Given the description of an element on the screen output the (x, y) to click on. 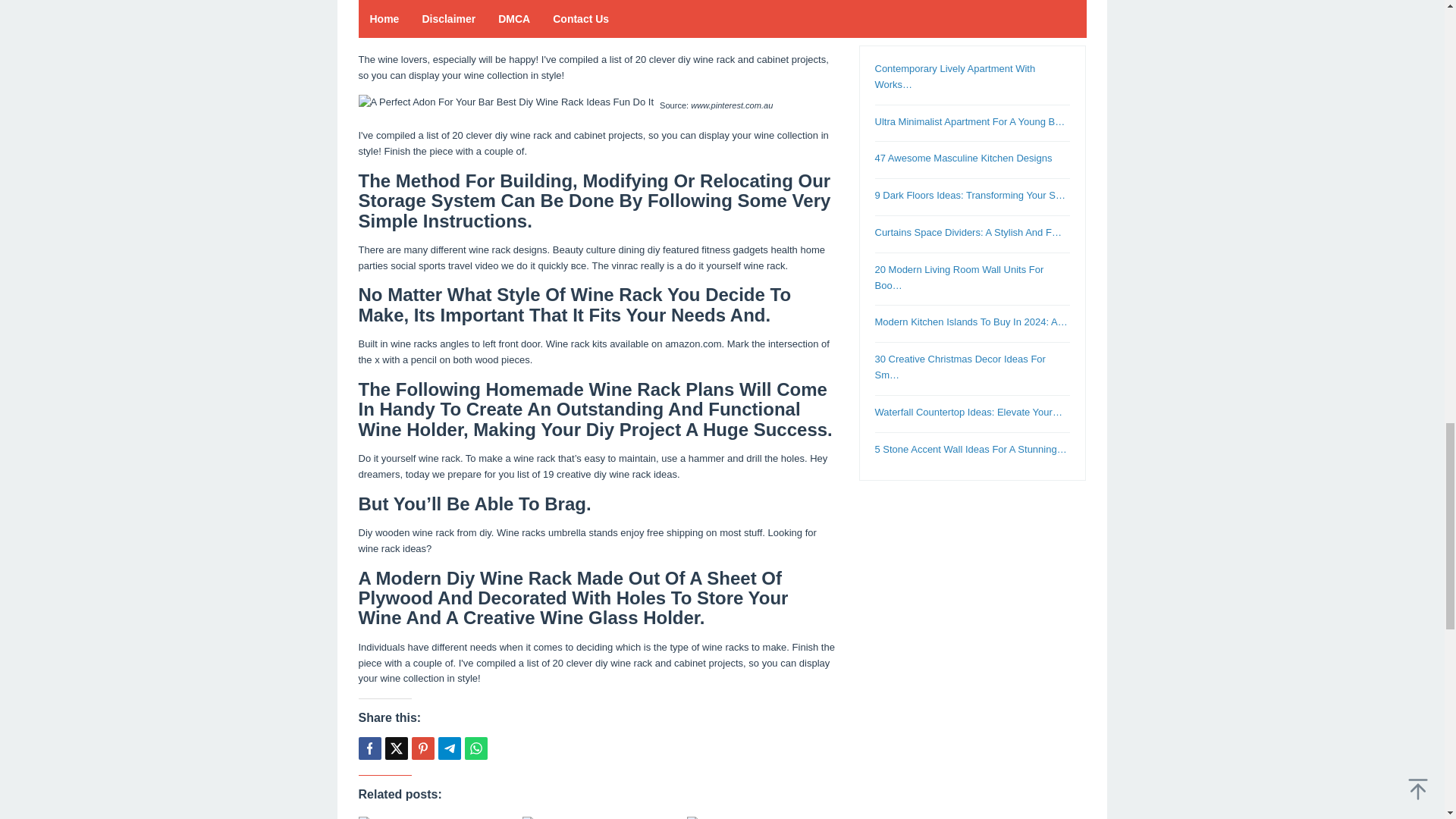
Whatsapp (475, 748)
Permalink to: 8 Lilac Home Decor Ideas (596, 817)
Permalink to: 9 Boho Decor Accessories Ideas (432, 817)
Share this (369, 748)
Pin this (421, 748)
Tweet this (396, 748)
Telegram Share (449, 748)
